Given the description of an element on the screen output the (x, y) to click on. 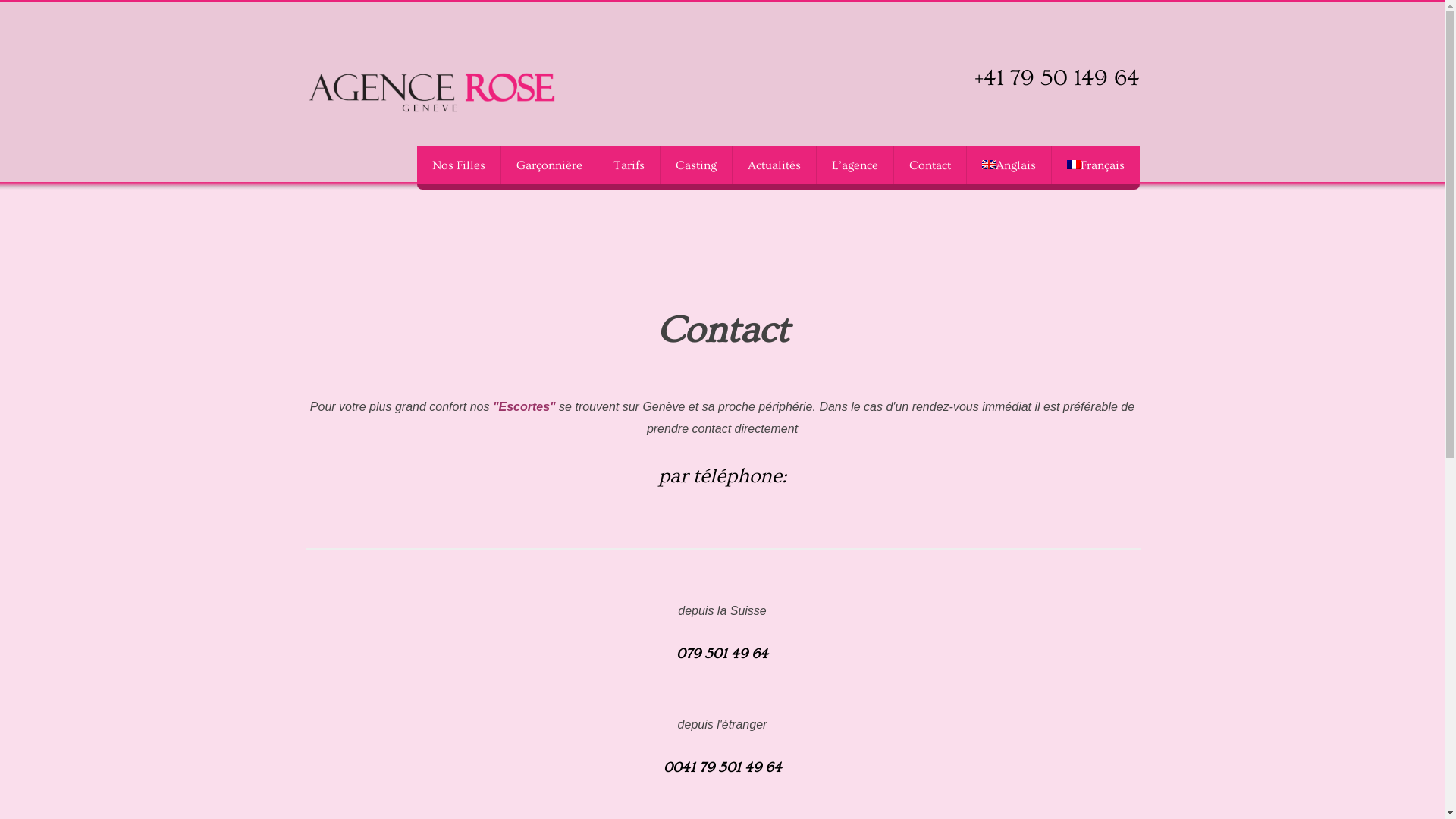
Anglais Element type: text (1008, 165)
Casting Element type: text (695, 165)
"Escortes" Element type: text (523, 406)
Agence Rose Element type: hover (429, 89)
English Element type: hover (987, 164)
0041 79 501 49 64 Element type: text (721, 767)
Contact Element type: text (929, 165)
Nos Filles Element type: text (458, 165)
Tarifs Element type: text (628, 165)
079 501 49 64 Element type: text (722, 654)
+41 79 50 149 64 Element type: text (1056, 78)
